Given the description of an element on the screen output the (x, y) to click on. 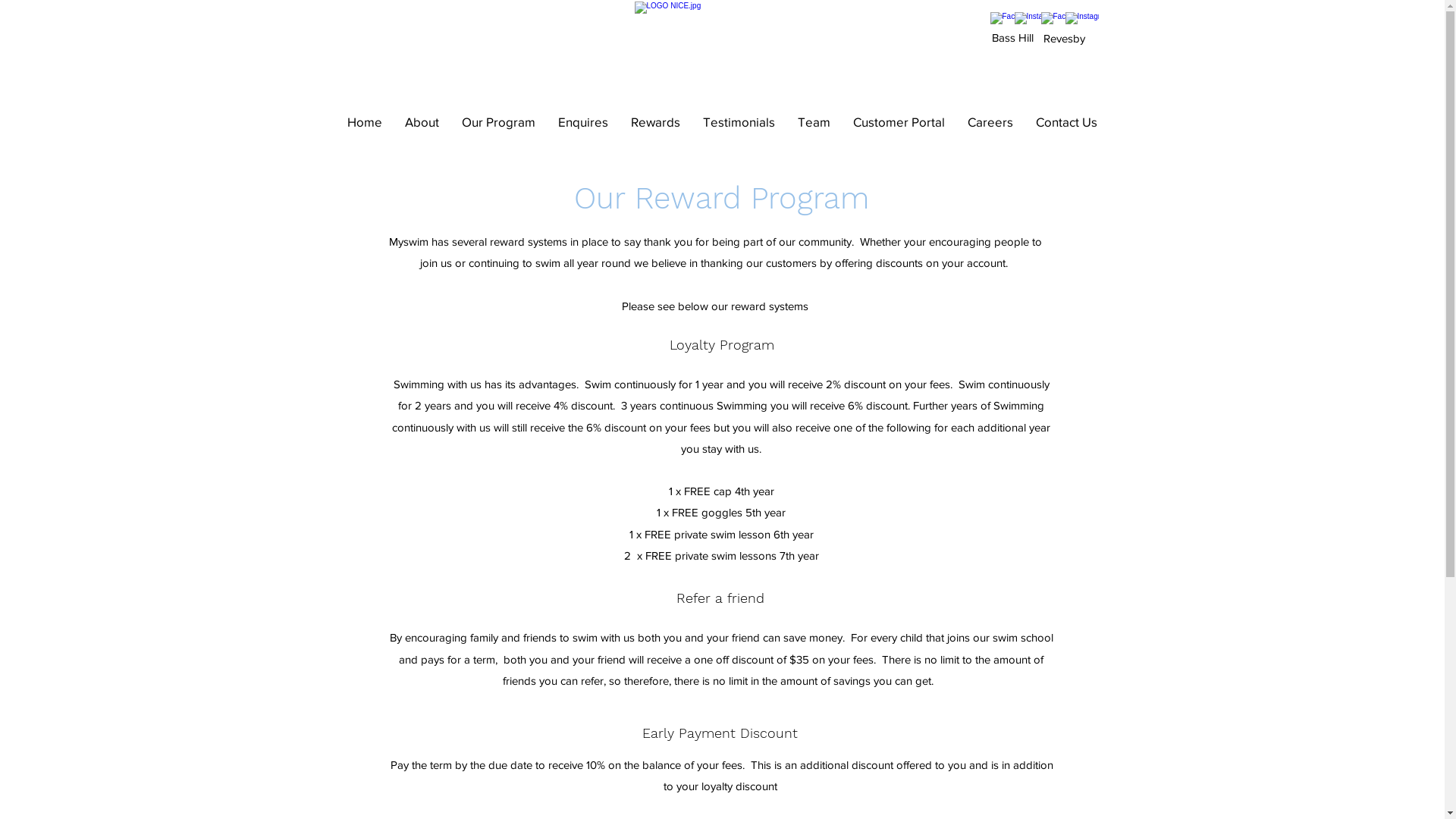
Contact Us Element type: text (1065, 121)
Enquires Element type: text (582, 121)
Team Element type: text (812, 121)
Careers Element type: text (989, 121)
Our Program Element type: text (498, 121)
Rewards Element type: text (654, 121)
Home Element type: text (363, 121)
About Element type: text (420, 121)
Customer Portal Element type: text (898, 121)
Testimonials Element type: text (738, 121)
